Given the description of an element on the screen output the (x, y) to click on. 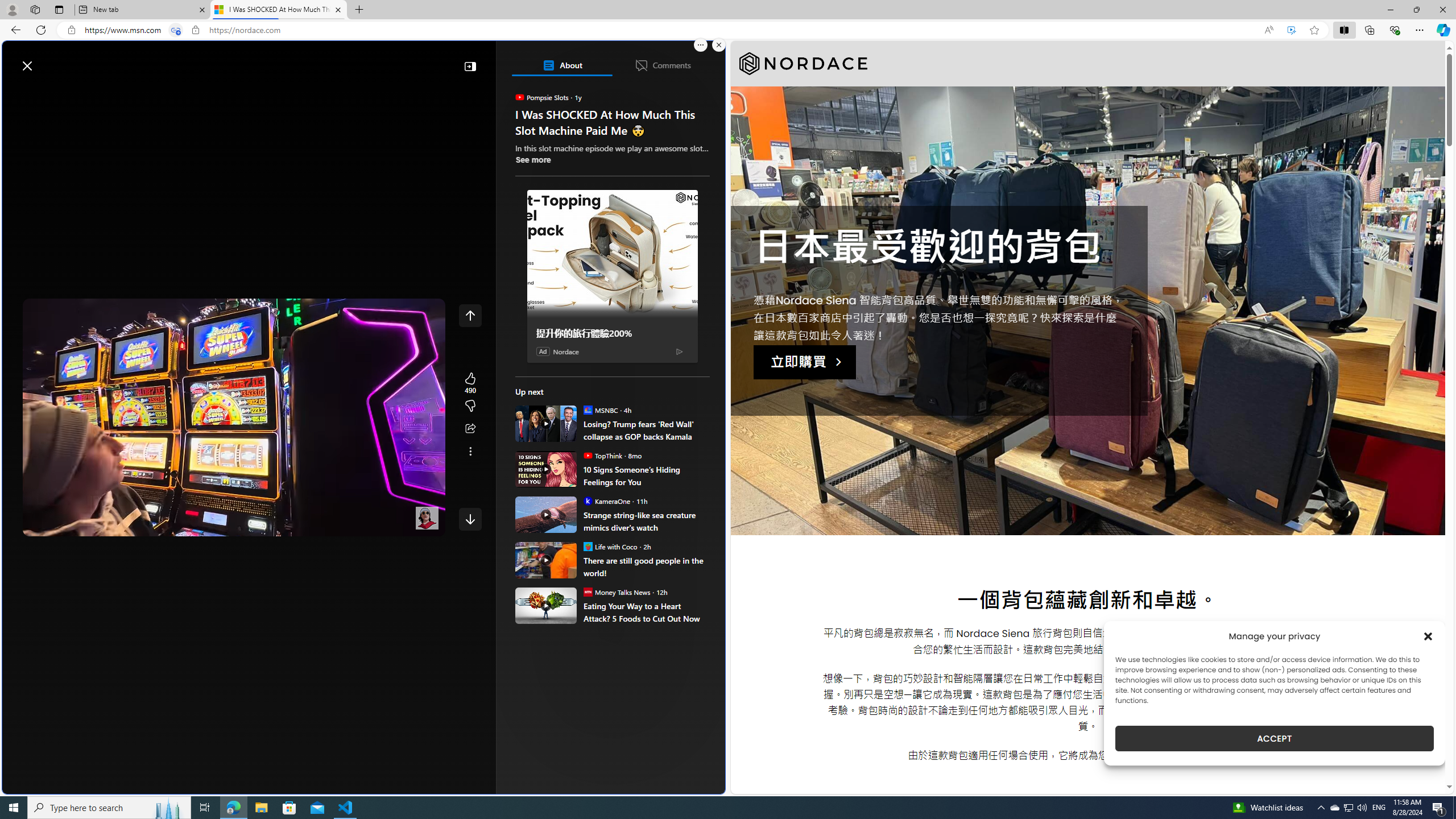
Collapse (469, 65)
Class: cmplz-close (1428, 636)
Open navigation menu (16, 92)
Money Talks News Money Talks News (616, 591)
Tabs in split screen (175, 29)
